Given the description of an element on the screen output the (x, y) to click on. 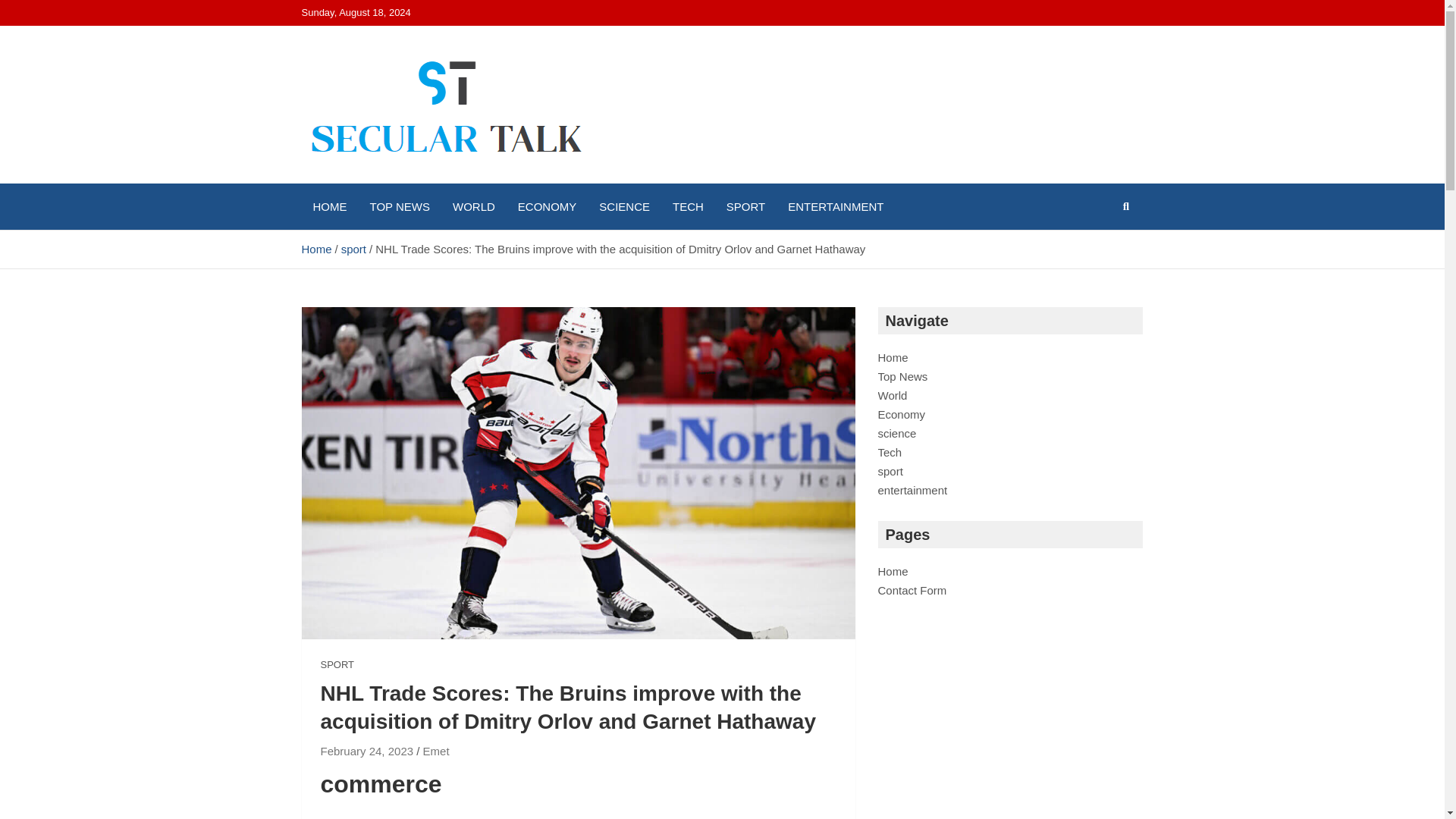
Tech (889, 451)
Home (892, 357)
ECONOMY (547, 206)
Emet (436, 750)
WORLD (473, 206)
sport (889, 471)
Economy (901, 413)
Secular Talk (390, 180)
ENTERTAINMENT (835, 206)
entertainment (912, 490)
